Given the description of an element on the screen output the (x, y) to click on. 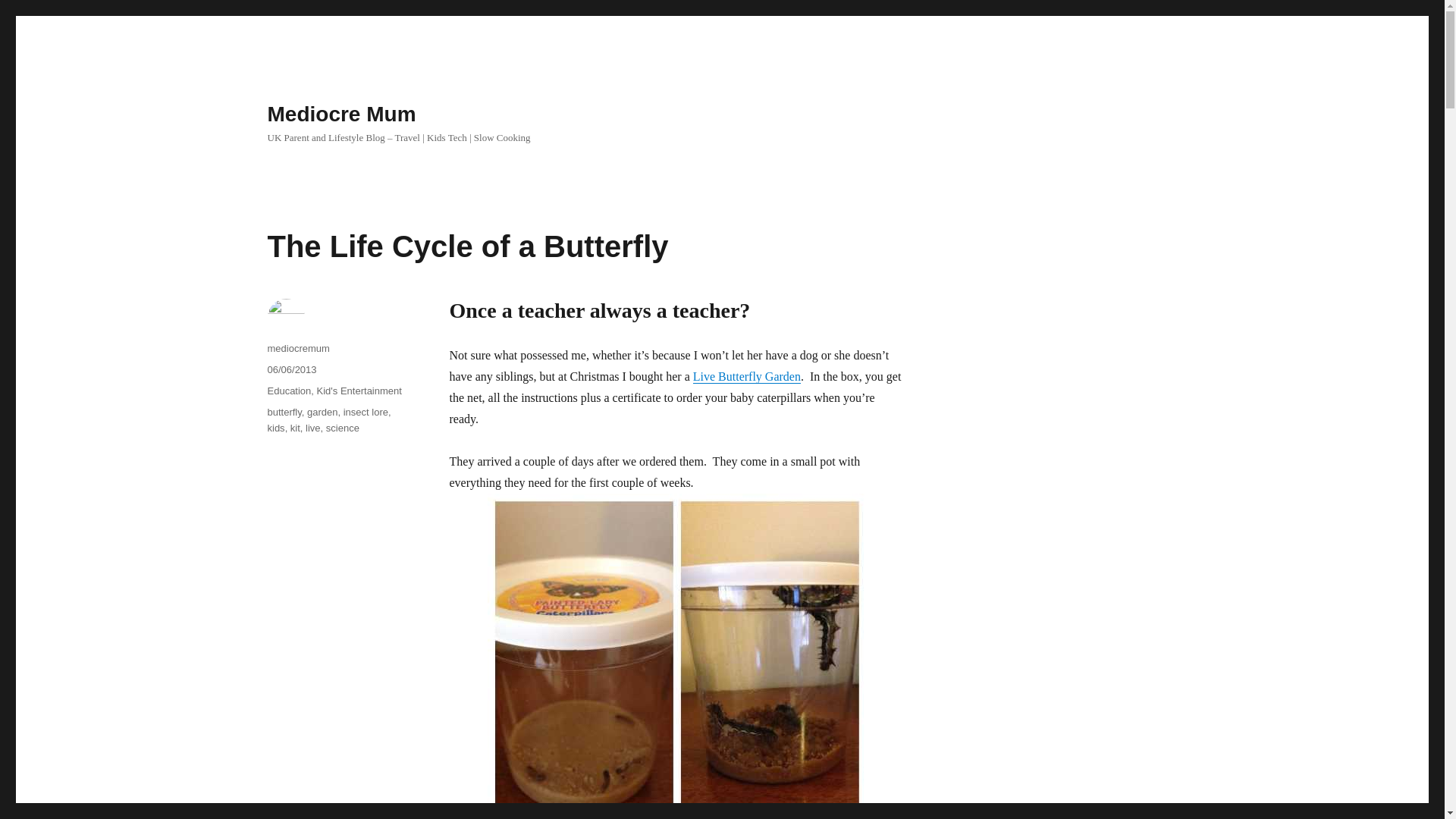
science (342, 428)
Live Butterfly Garden (746, 376)
kids (274, 428)
garden (322, 411)
live (312, 428)
Kid's Entertainment (359, 390)
butterfly (283, 411)
mediocremum (297, 348)
Butterfly Kit (746, 376)
Mediocre Mum (340, 114)
